Given the description of an element on the screen output the (x, y) to click on. 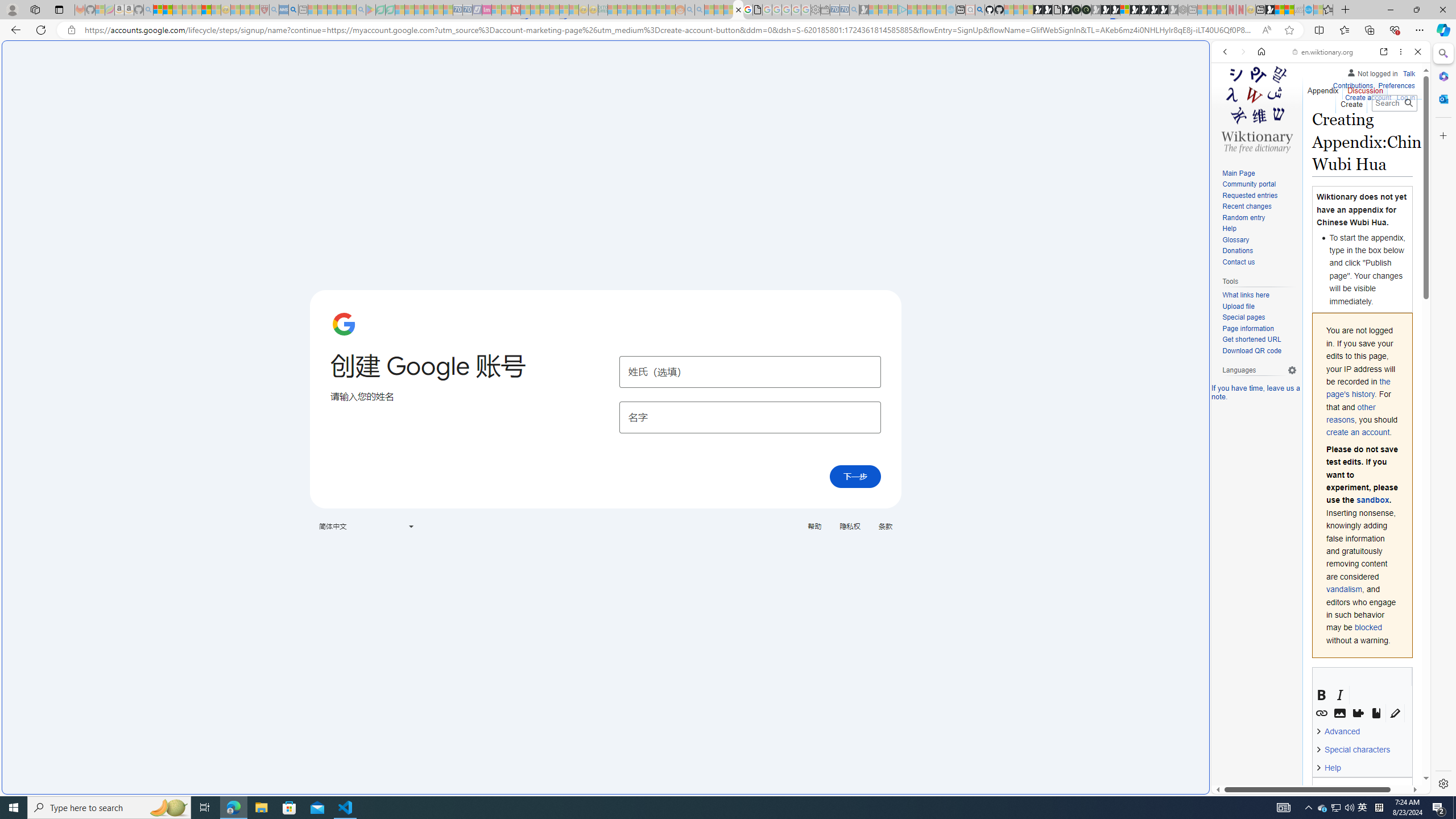
Italic (1339, 695)
Special characters (1355, 749)
sandbox (1372, 500)
Class: VfPpkd-t08AT-Bz112c-Bd00G (410, 526)
Create account (1367, 98)
